Given the description of an element on the screen output the (x, y) to click on. 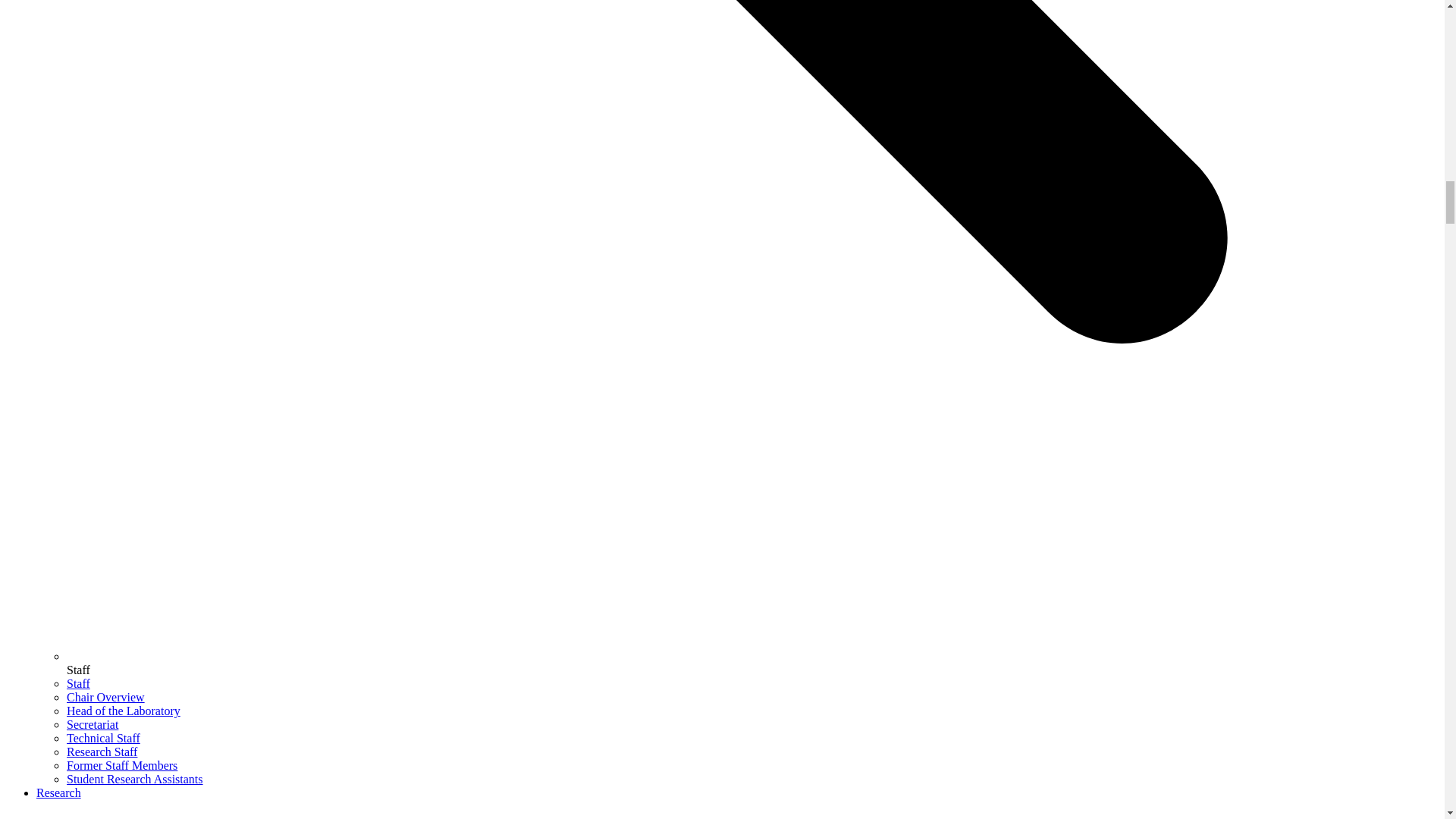
Secretariat (91, 724)
Technical Staff (102, 738)
Chair Overview (105, 697)
Research Staff (101, 751)
Research (58, 792)
Head of the Laboratory (123, 710)
Student Research Assistants (134, 779)
Staff (78, 683)
Former Staff Members (121, 765)
